Given the description of an element on the screen output the (x, y) to click on. 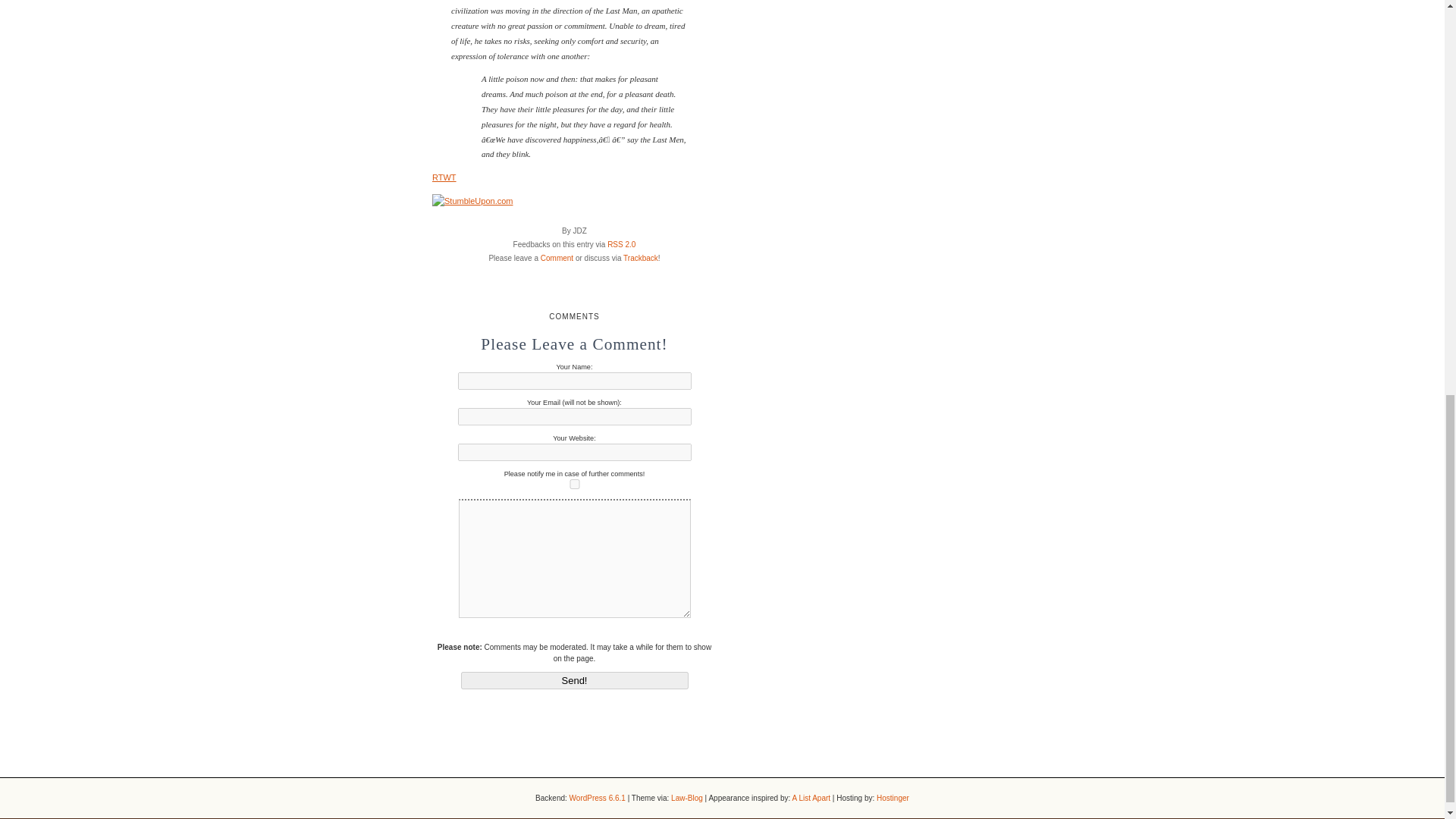
A List Apart (810, 797)
subscribe (574, 483)
Trackback (640, 257)
RTWT (444, 176)
Send! (574, 680)
Hostinger (892, 797)
WordPress 6.6.1 (597, 797)
Law-Blog (687, 797)
RSS 2.0 (620, 244)
Comment (556, 257)
Send! (574, 680)
